Given the description of an element on the screen output the (x, y) to click on. 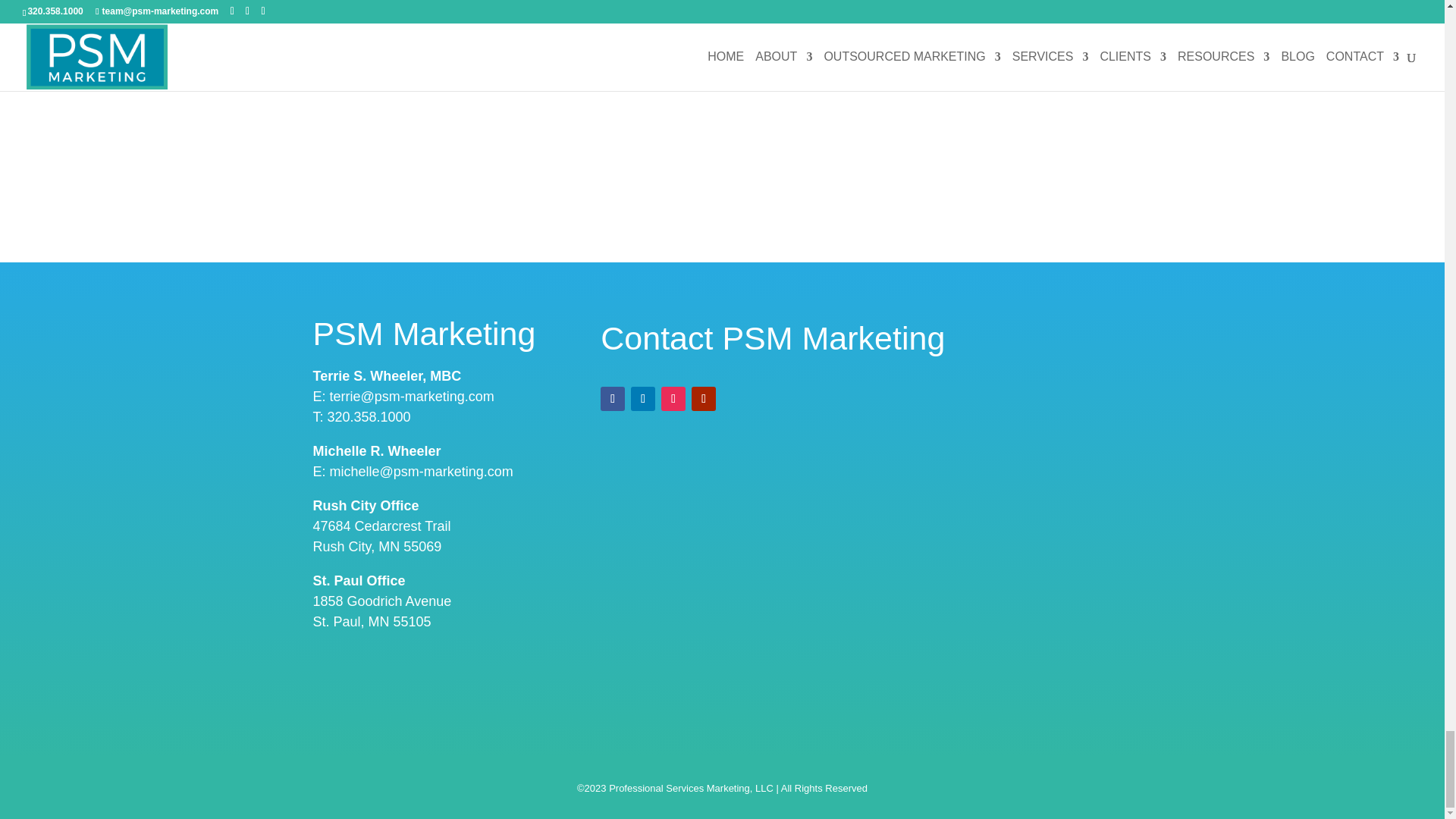
Follow on Facebook (611, 398)
Follow on Instagram (673, 398)
Follow on LinkedIn (642, 398)
